Given the description of an element on the screen output the (x, y) to click on. 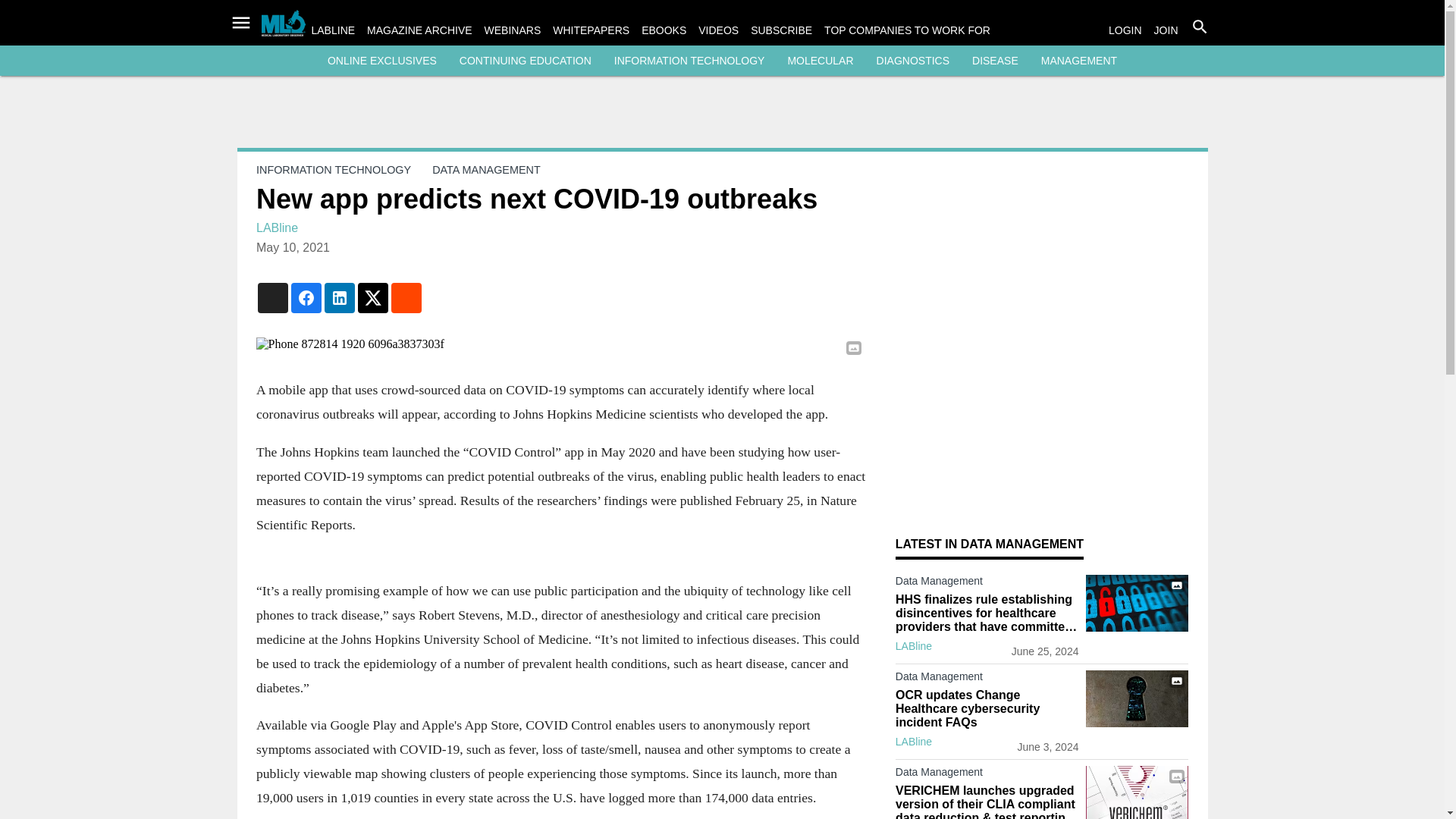
VIDEOS (718, 30)
WEBINARS (512, 30)
LOGIN (1124, 30)
MANAGEMENT (1078, 60)
ONLINE EXCLUSIVES (381, 60)
TOP COMPANIES TO WORK FOR (907, 30)
Phone 872814 1920 6096a3837303f (560, 344)
LABLINE (333, 30)
MOLECULAR (820, 60)
MAGAZINE ARCHIVE (418, 30)
EBOOKS (663, 30)
SUBSCRIBE (781, 30)
WHITEPAPERS (590, 30)
DISEASE (994, 60)
CONTINUING EDUCATION (525, 60)
